Given the description of an element on the screen output the (x, y) to click on. 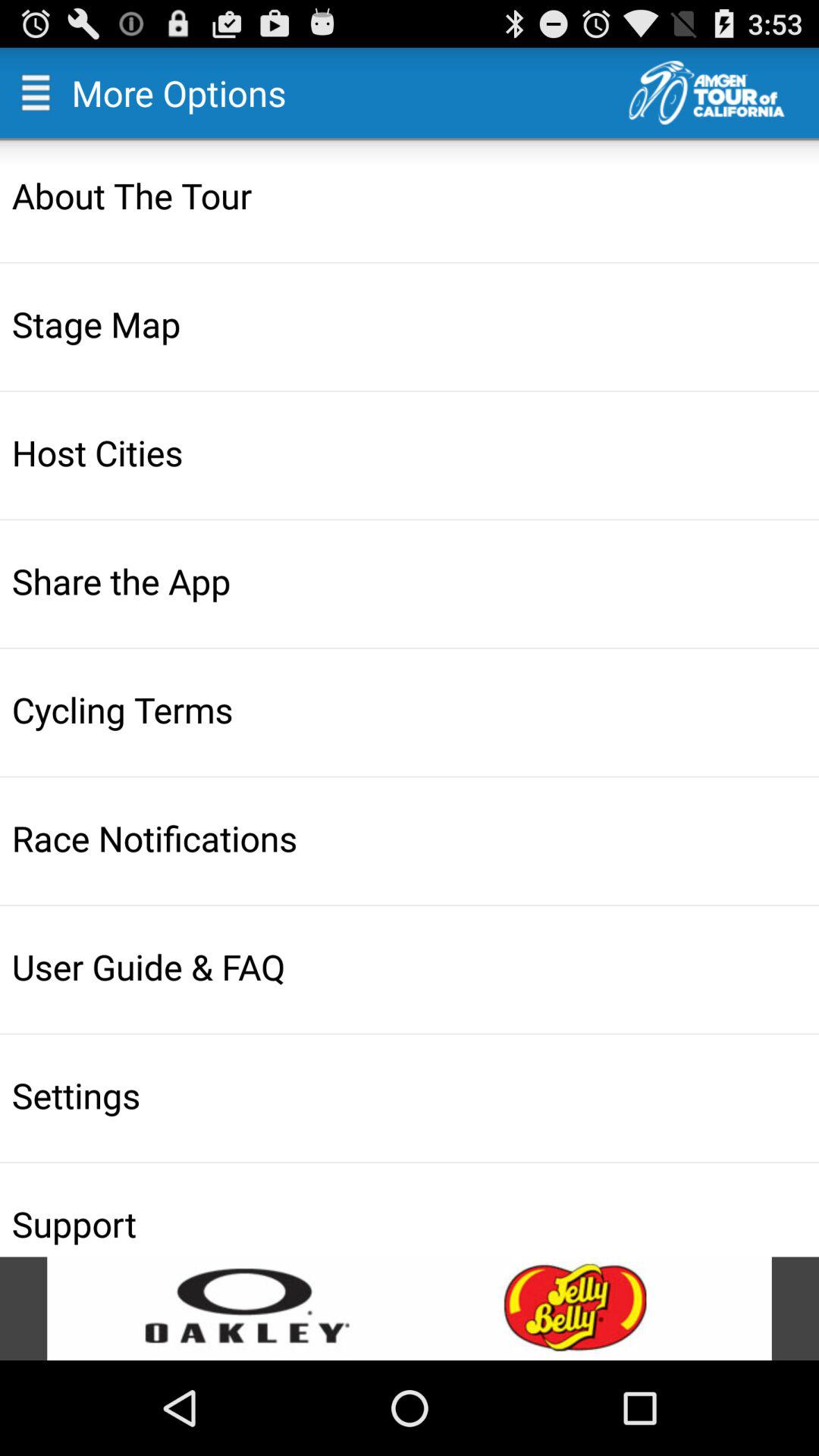
jump until the race notifications icon (411, 837)
